Given the description of an element on the screen output the (x, y) to click on. 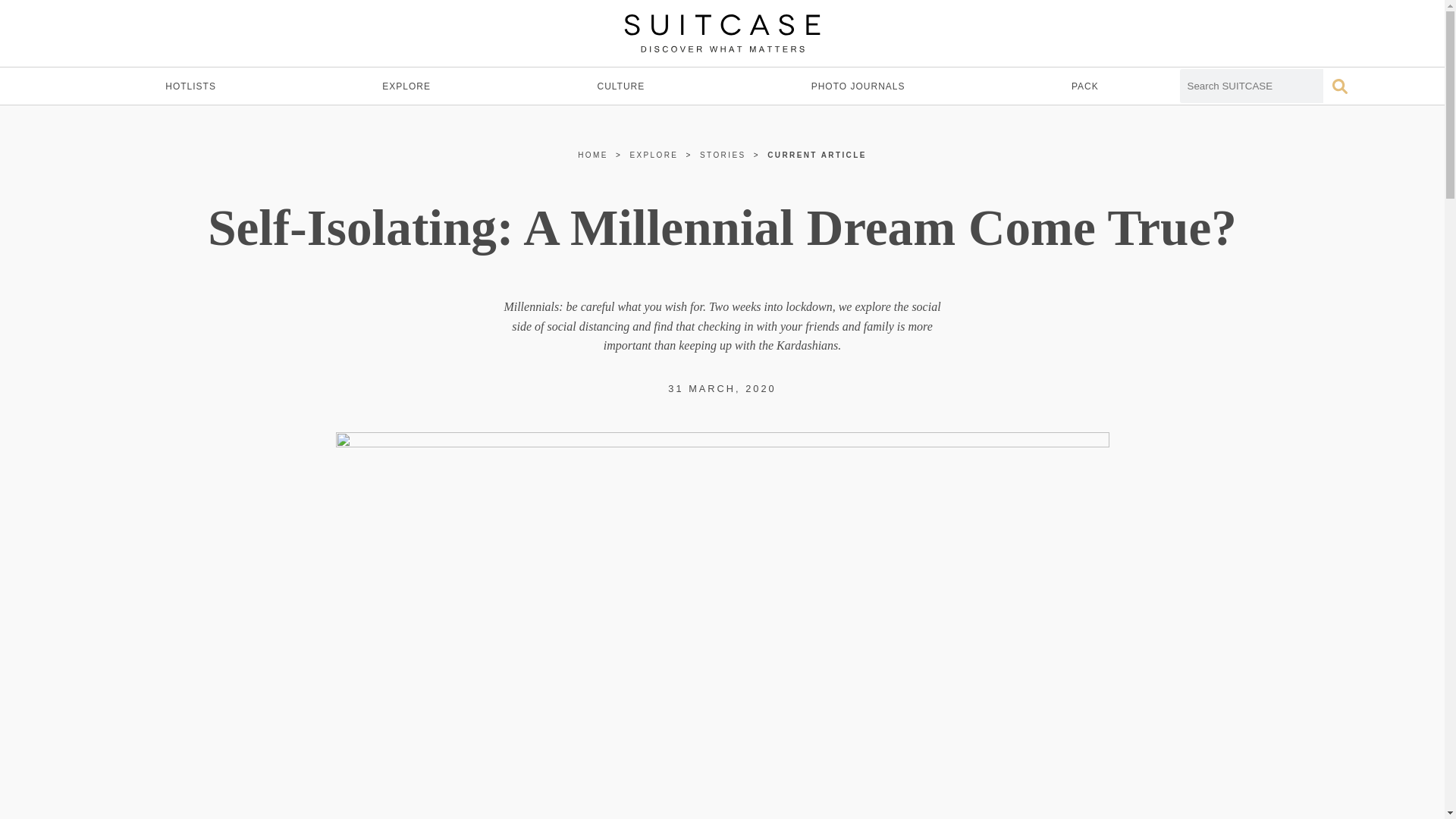
HOTLISTS (190, 85)
EXPLORE (405, 85)
STORIES (722, 154)
CURRENT ARTICLE (816, 154)
HOME (593, 154)
PHOTO JOURNALS (858, 85)
PACK (1085, 85)
EXPLORE (653, 154)
CULTURE (619, 85)
